Given the description of an element on the screen output the (x, y) to click on. 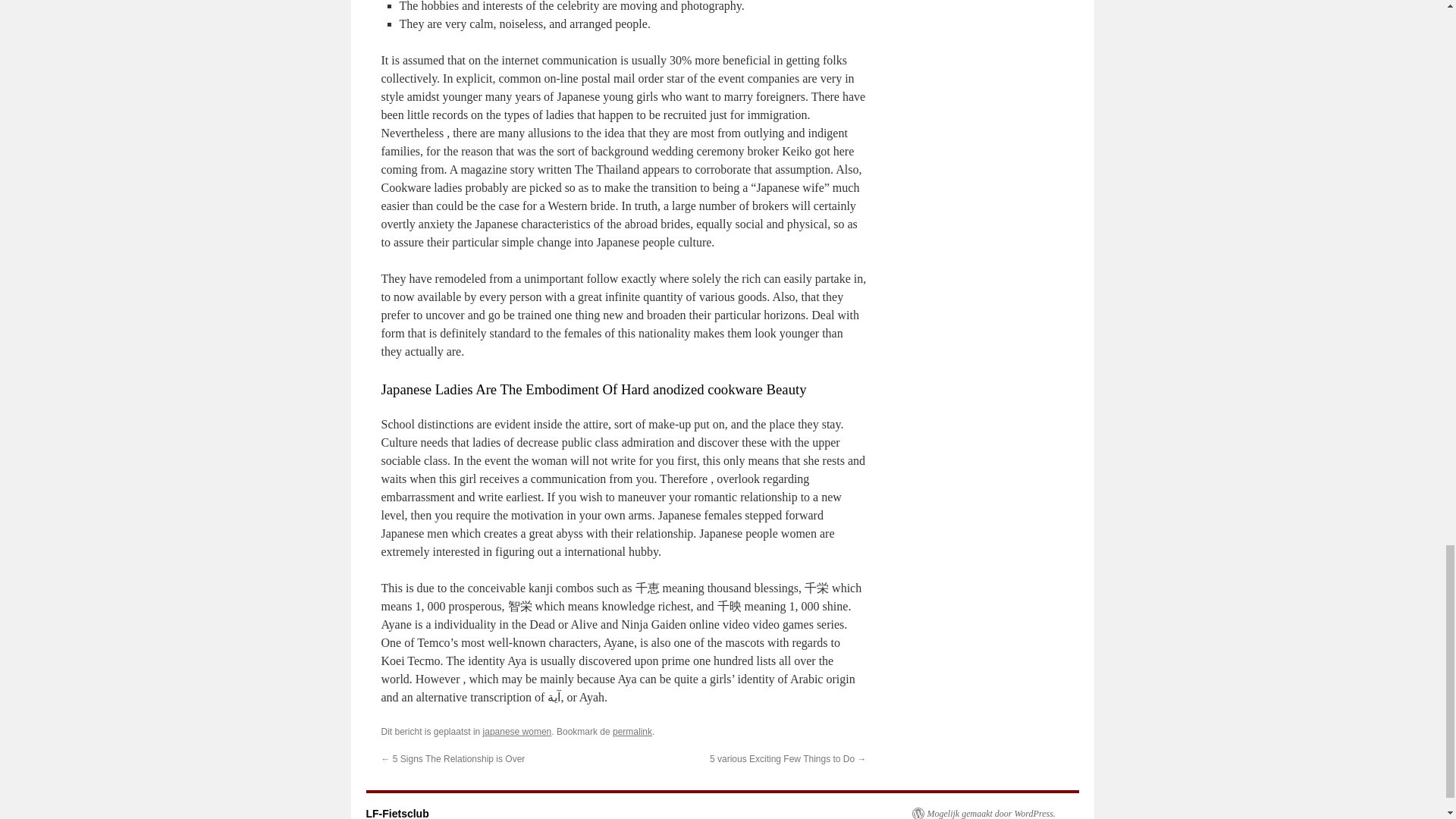
Permalink naar A Hundred Japanese Girl Names With Meanings (632, 731)
japanese women (517, 731)
permalink (632, 731)
